Given the description of an element on the screen output the (x, y) to click on. 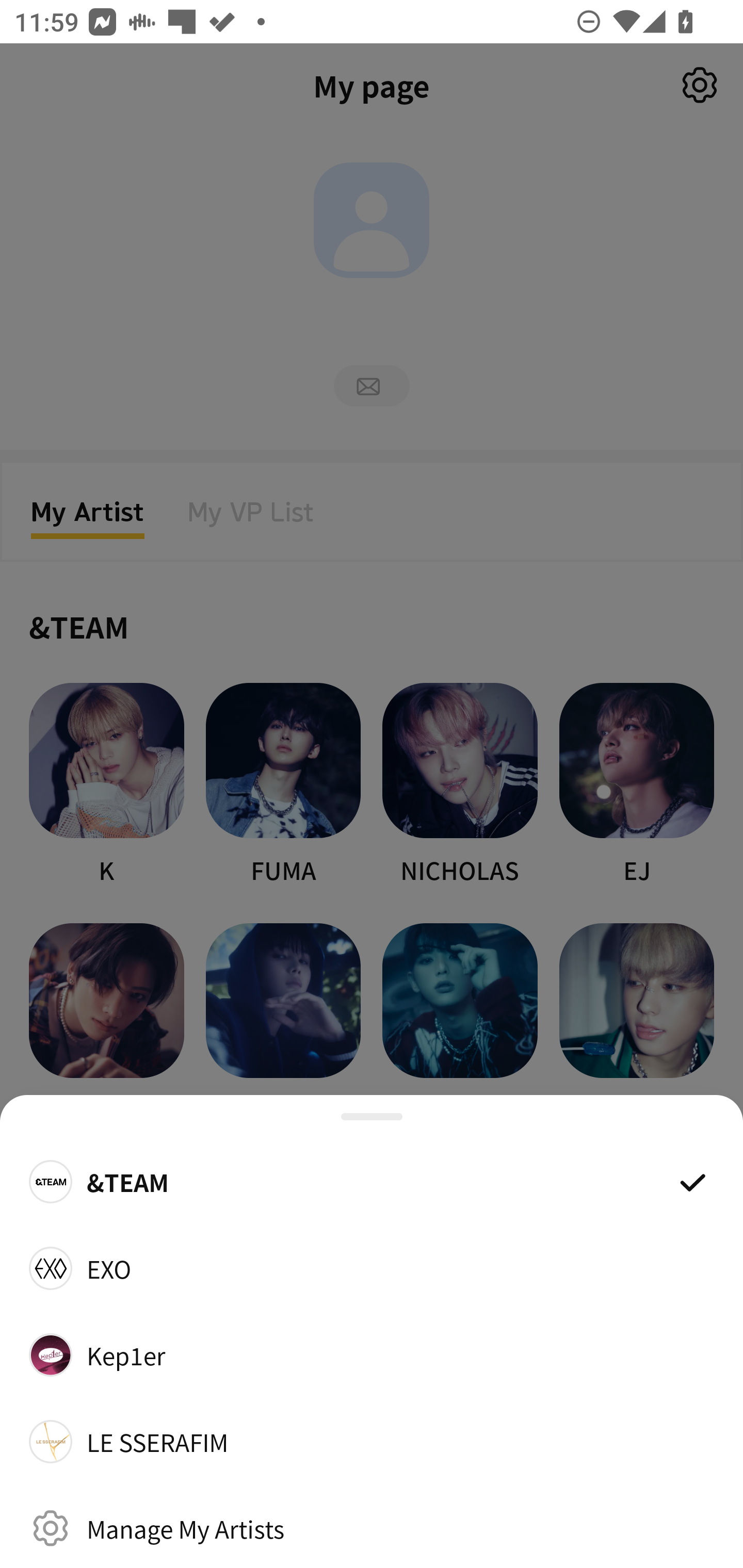
&TEAM (371, 1181)
EXO (371, 1268)
Kep1er (371, 1354)
LE SSERAFIM (371, 1441)
Manage My Artists (371, 1527)
